Given the description of an element on the screen output the (x, y) to click on. 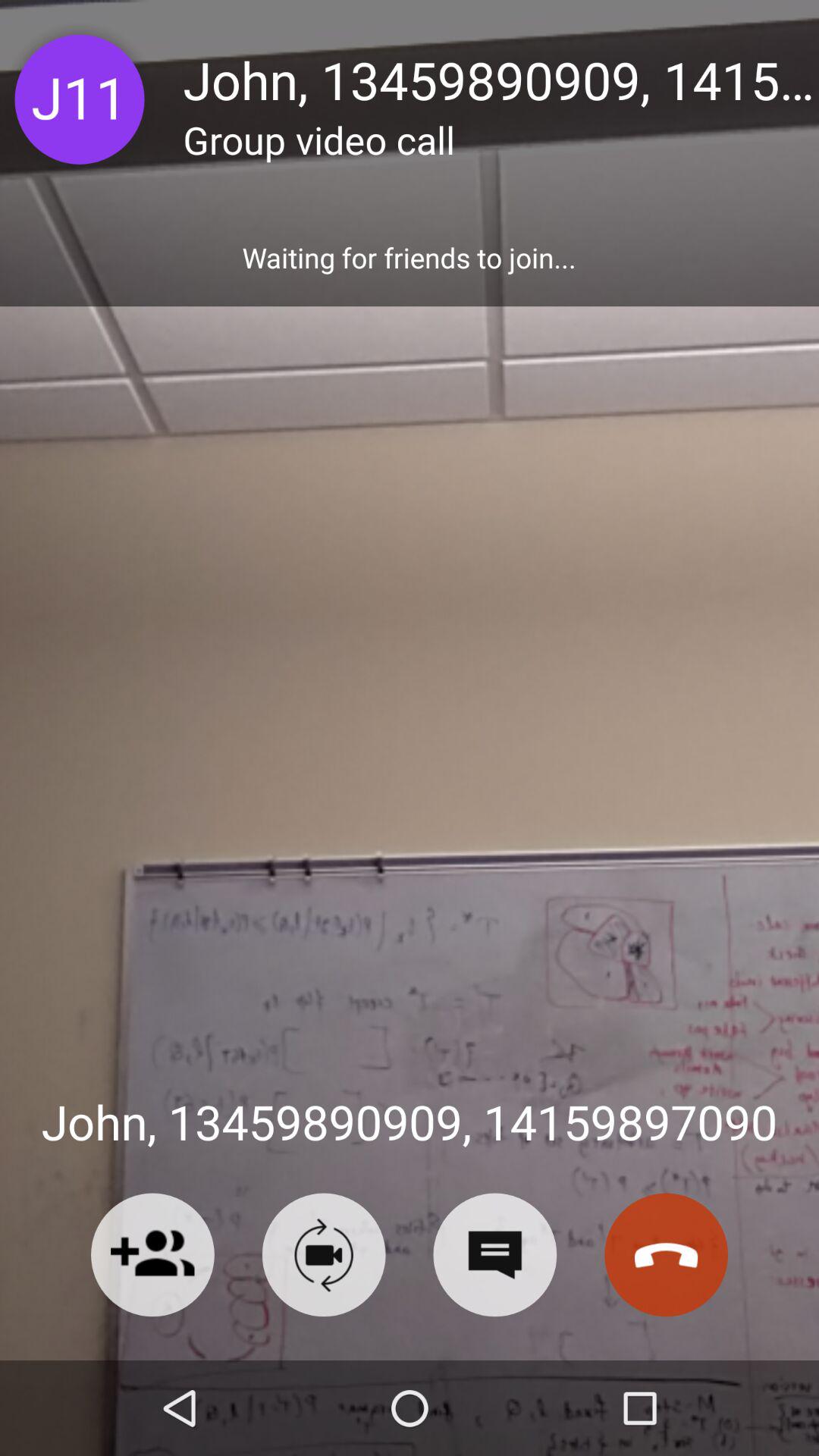
contact (152, 1254)
